Given the description of an element on the screen output the (x, y) to click on. 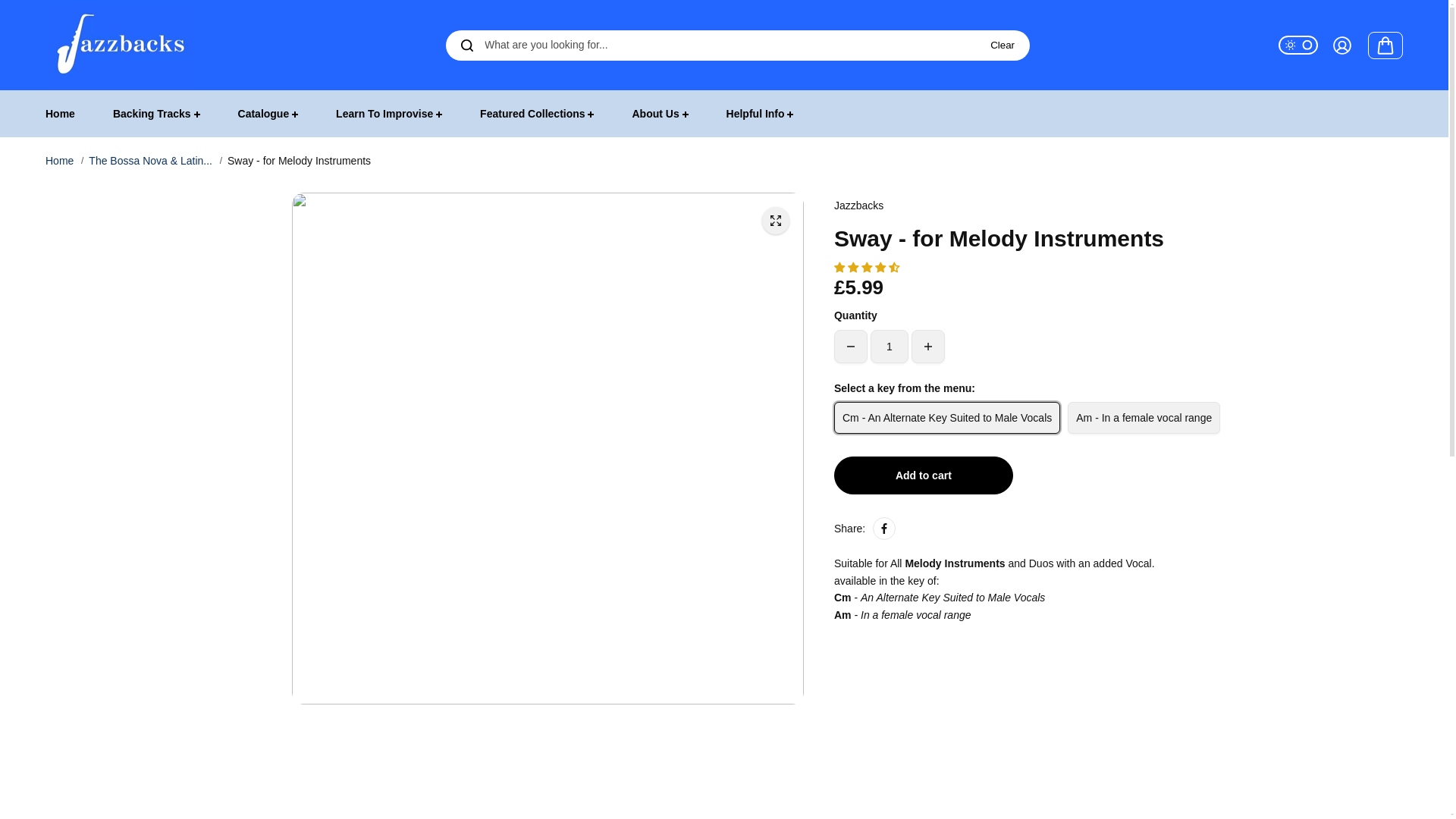
1 (889, 346)
Am - In a female vocal range (1143, 418)
Skip to content (48, 15)
Cm - An Alternate Key Suited to Male Vocals (946, 418)
